Given the description of an element on the screen output the (x, y) to click on. 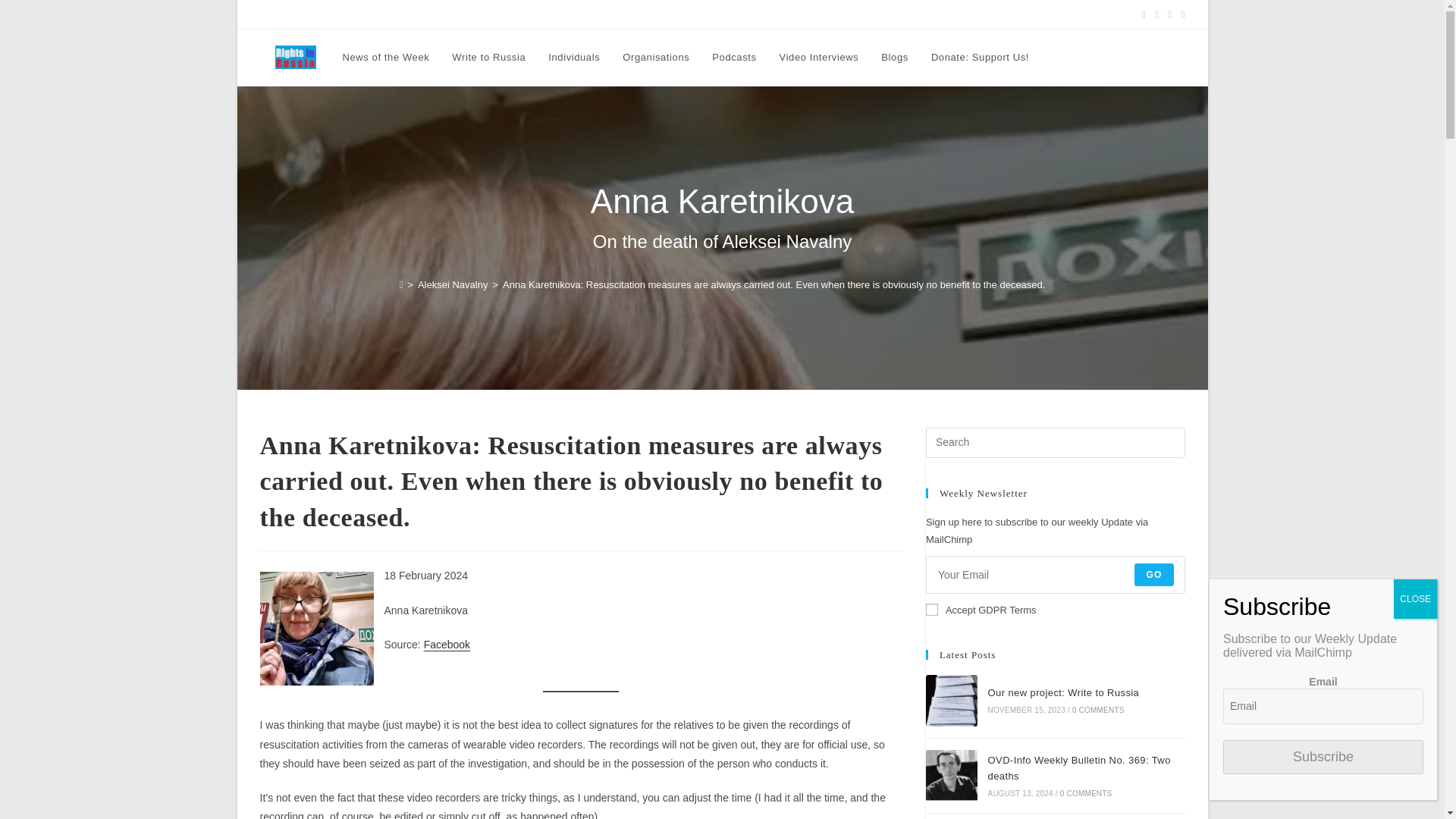
Rights in Russia Update (307, 13)
Podcasts (733, 57)
Book Reviews (397, 13)
Obituaries (458, 13)
Remember the Date (637, 13)
Our new project: Write to Russia (951, 700)
What We Say (557, 13)
Contact (752, 13)
About us (707, 13)
Archive 2010-2020 (882, 13)
